Given the description of an element on the screen output the (x, y) to click on. 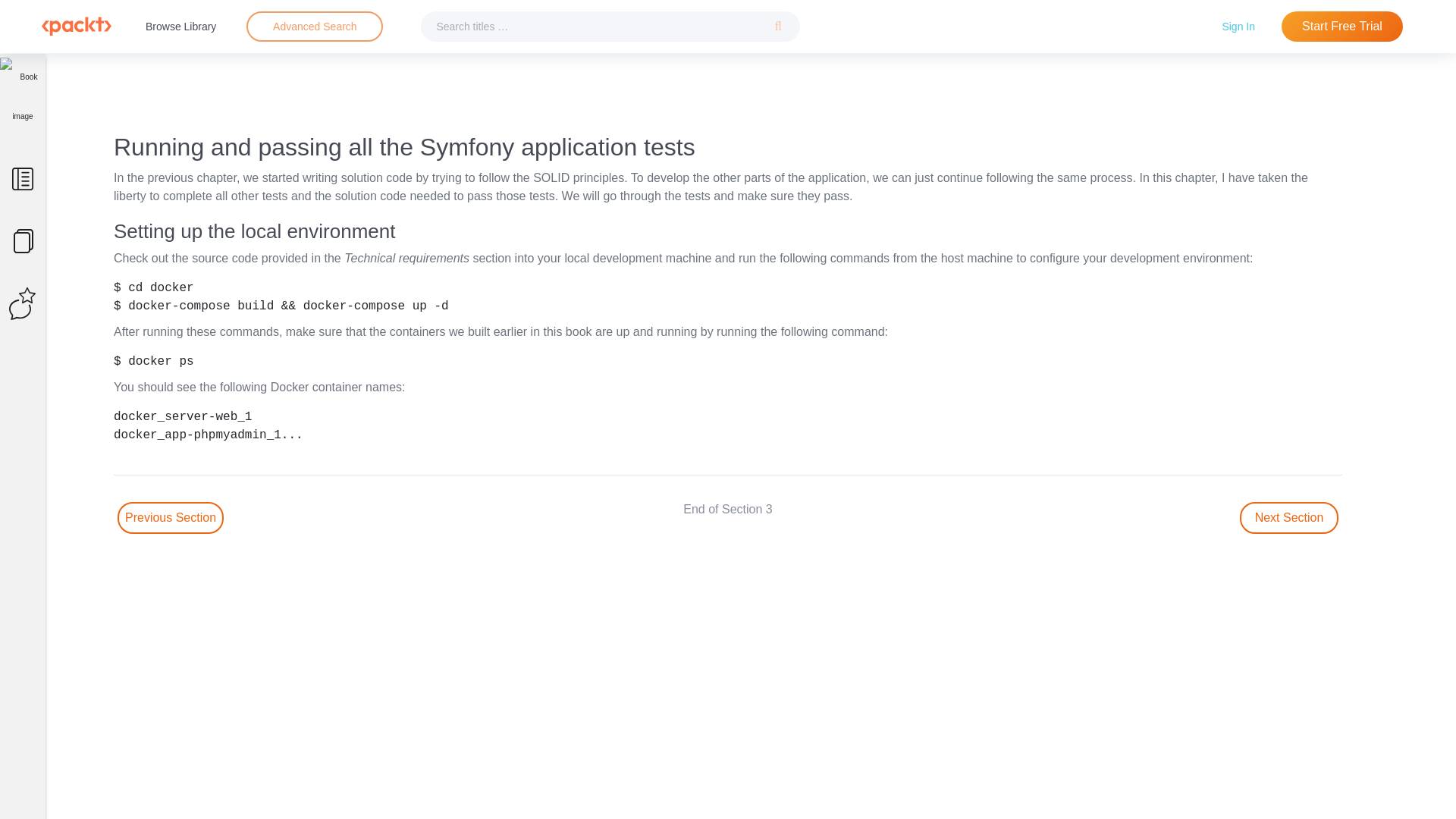
Browse Library (180, 26)
Go to next section (1289, 517)
Go to Previous section (170, 517)
Start Free Trial (1342, 26)
Advanced Search (315, 26)
Sign In (1238, 26)
Advanced Search (314, 26)
Advanced search (314, 26)
